Given the description of an element on the screen output the (x, y) to click on. 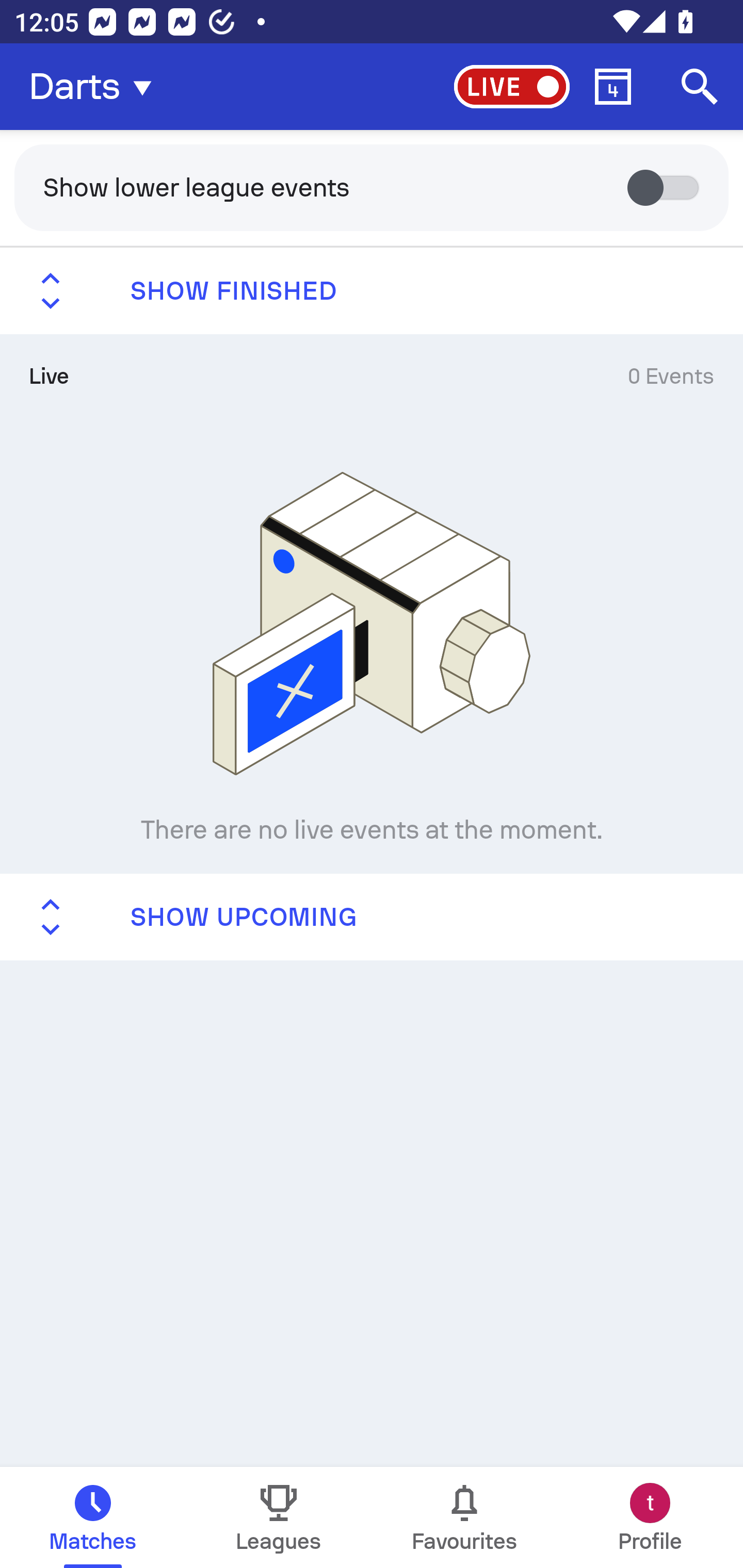
Darts (96, 86)
Calendar (612, 86)
Search (699, 86)
Show lower league events (371, 187)
SHOW FINISHED (371, 290)
SHOW UPCOMING (371, 916)
Leagues (278, 1517)
Favourites (464, 1517)
Profile (650, 1517)
